Given the description of an element on the screen output the (x, y) to click on. 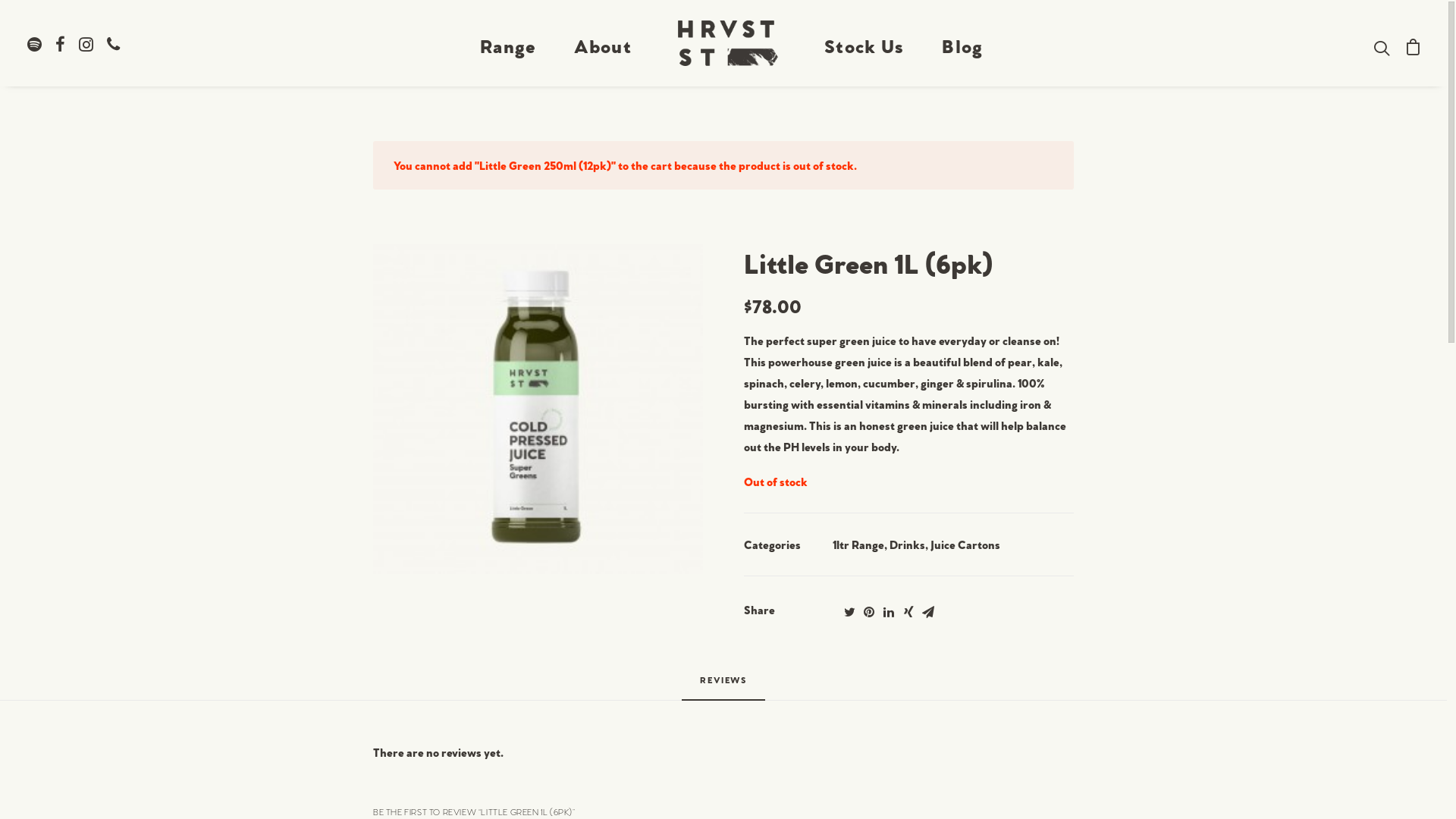
REVIEWS  Element type: text (723, 685)
Range Element type: text (508, 43)
1ltr Range Element type: text (858, 543)
cart Element type: hover (1408, 43)
Drinks Element type: text (907, 543)
Blog Element type: text (961, 43)
Juice Cartons Element type: text (965, 543)
Stock Us Element type: text (863, 43)
About Element type: text (602, 43)
